Given the description of an element on the screen output the (x, y) to click on. 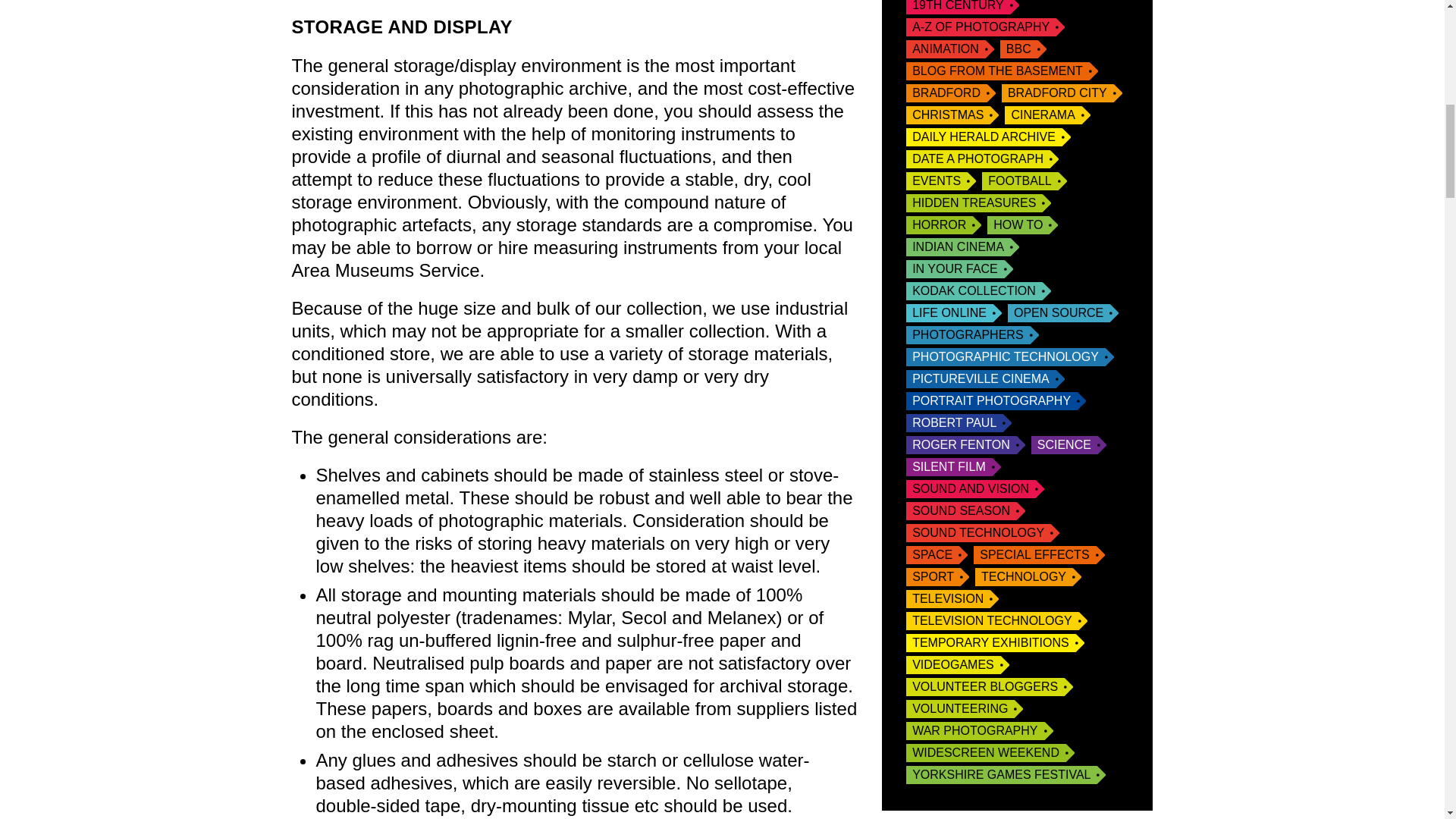
CINERAMA (1046, 115)
EVENTS (940, 180)
BBC (1023, 49)
DAILY HERALD ARCHIVE (987, 136)
ANIMATION (949, 49)
A-Z OF PHOTOGRAPHY (984, 27)
CHRISTMAS (951, 115)
FOOTBALL (1024, 180)
BRADFORD (950, 93)
BLOG FROM THE BASEMENT (1001, 71)
